Given the description of an element on the screen output the (x, y) to click on. 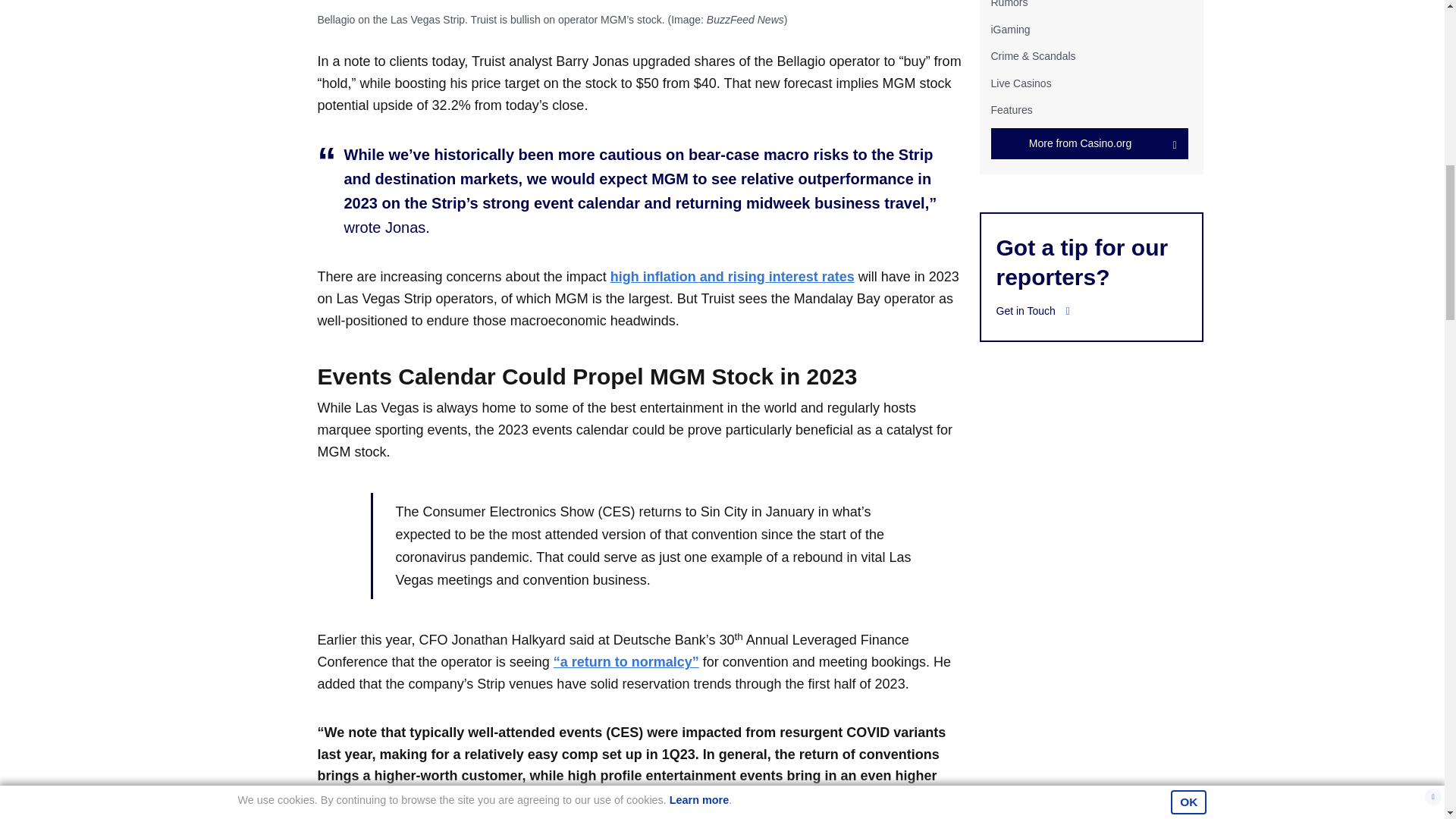
iGaming (1009, 29)
Features (1011, 110)
Rumors (1008, 4)
Live Casinos (1020, 82)
high inflation and rising interest rates (732, 276)
